Given the description of an element on the screen output the (x, y) to click on. 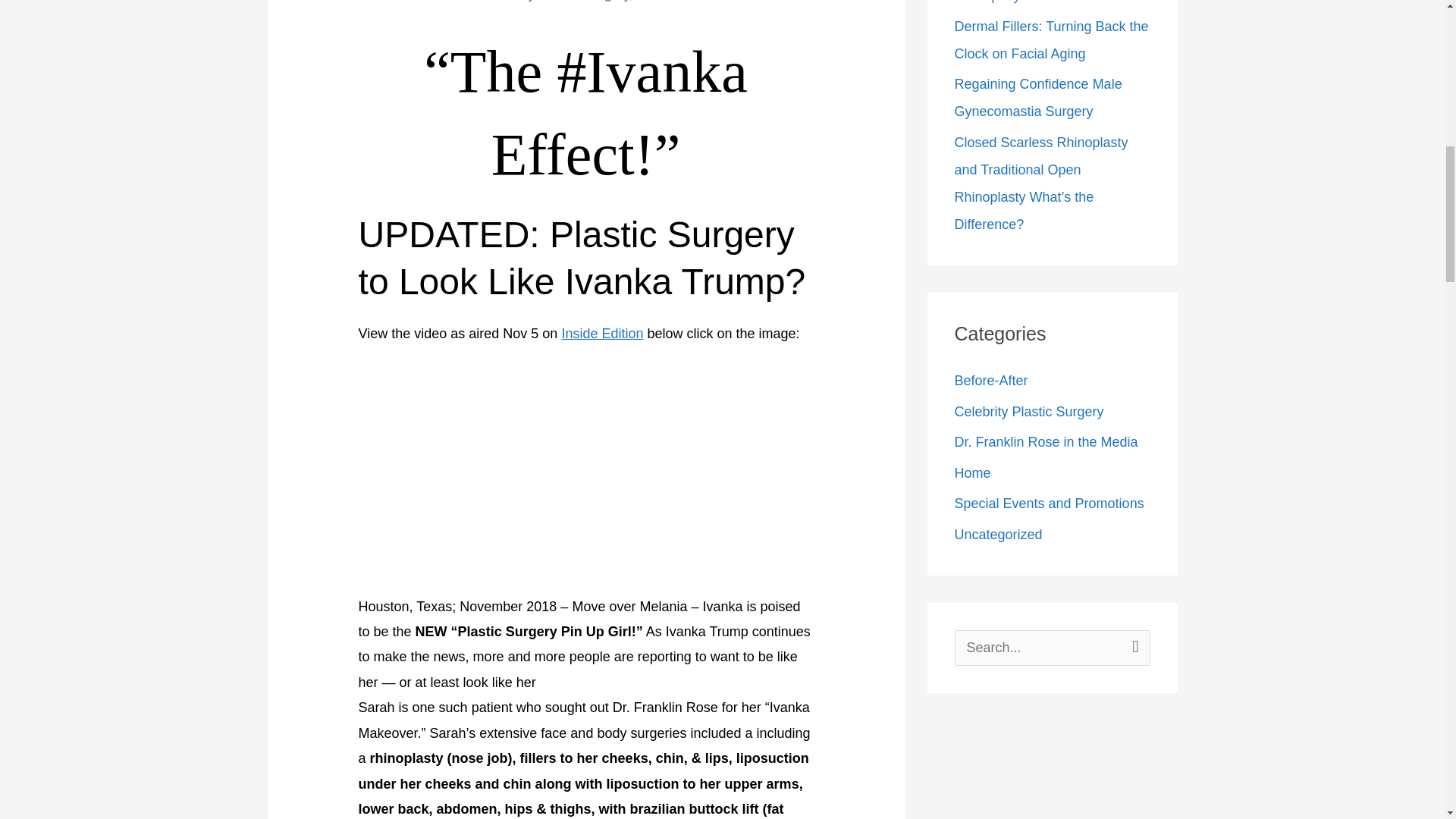
Home (654, 0)
Search (1133, 645)
Inside Edition (601, 333)
Search (1133, 645)
Leave a Comment (414, 0)
